Given the description of an element on the screen output the (x, y) to click on. 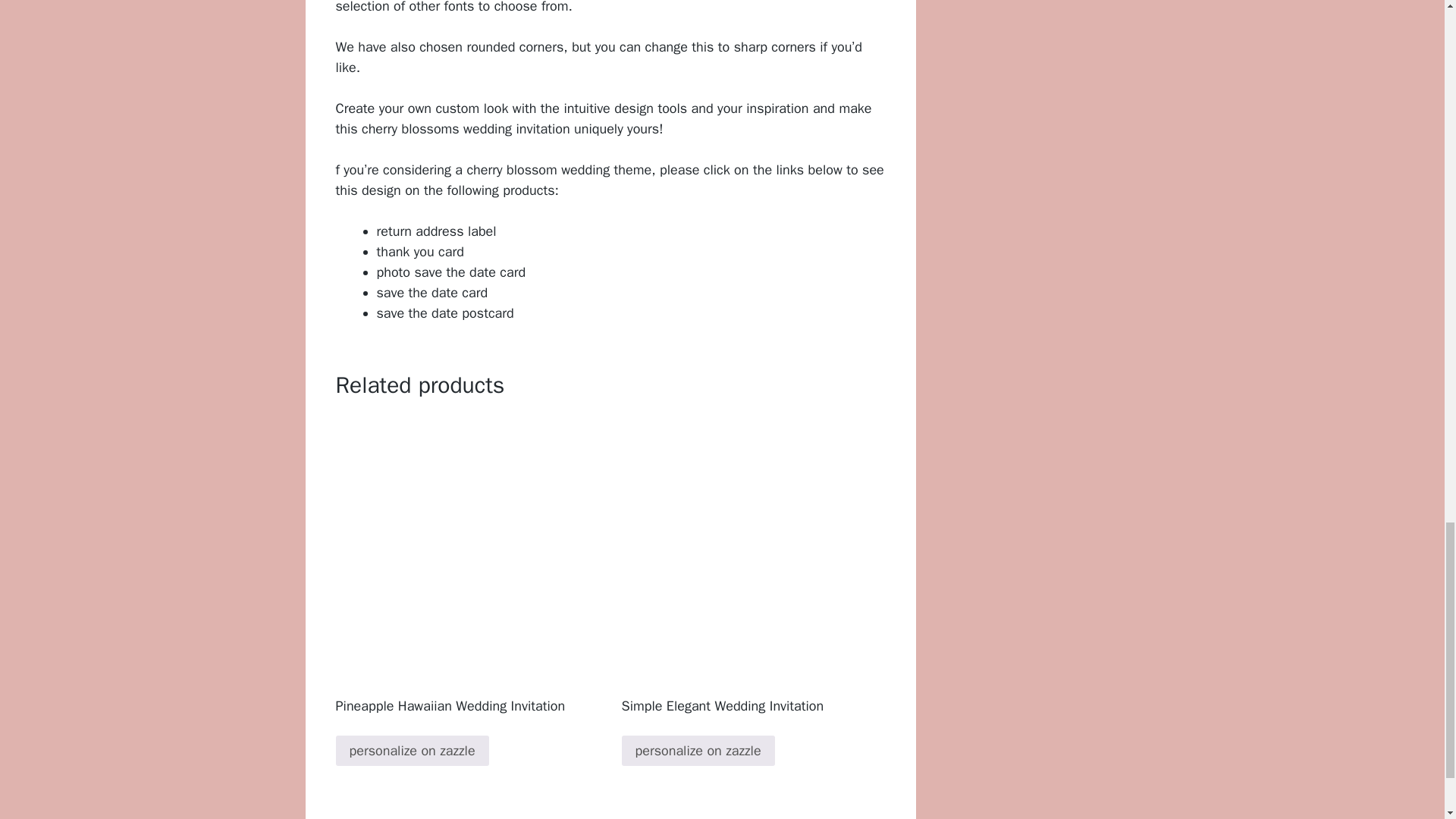
personalize on zazzle (697, 750)
photo save the date card (450, 271)
return address label (435, 230)
save the date postcard (444, 312)
thank you card (419, 251)
personalize on zazzle (410, 750)
save the date card (431, 292)
